Given the description of an element on the screen output the (x, y) to click on. 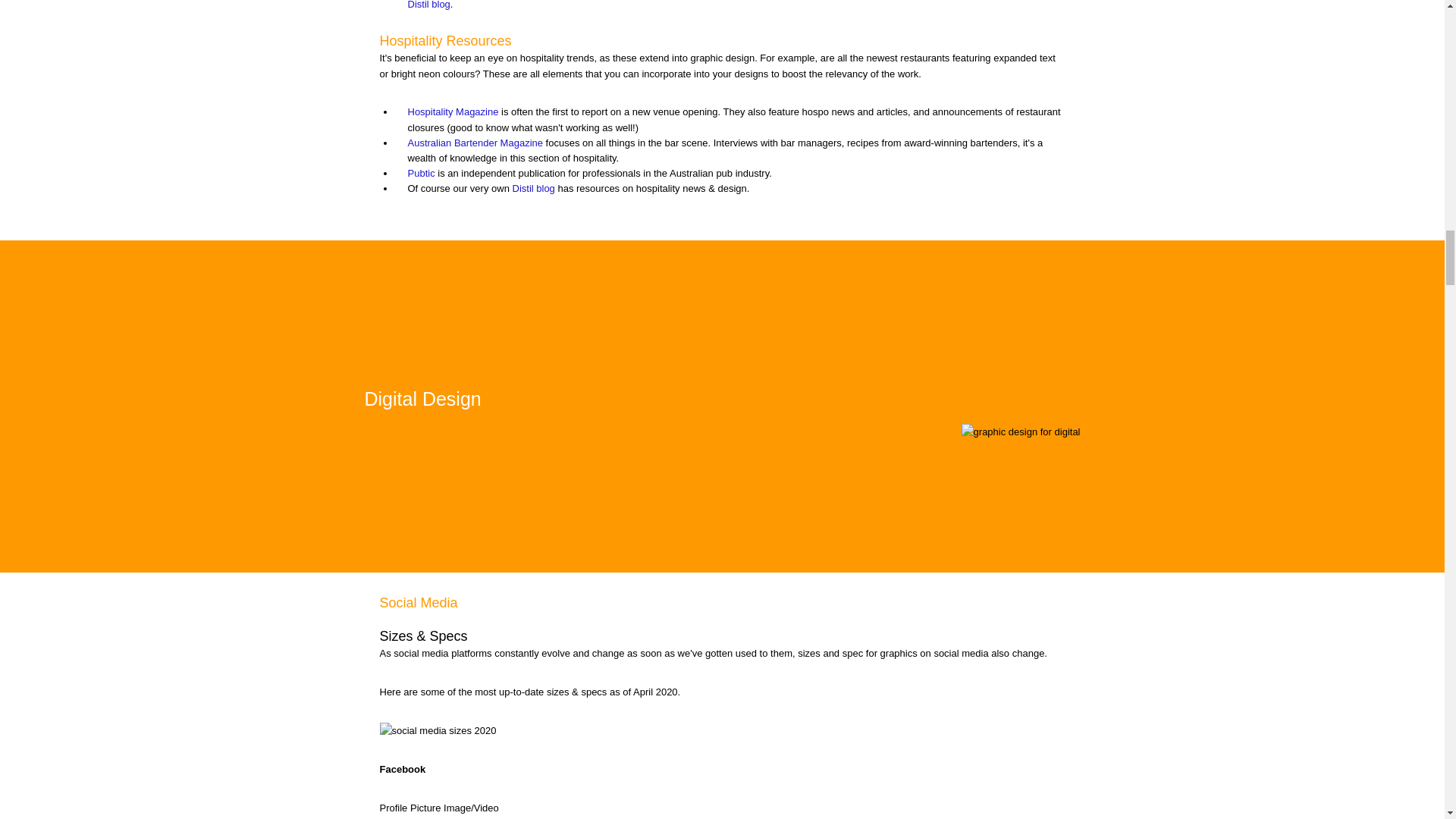
Distil blog (428, 4)
